Given the description of an element on the screen output the (x, y) to click on. 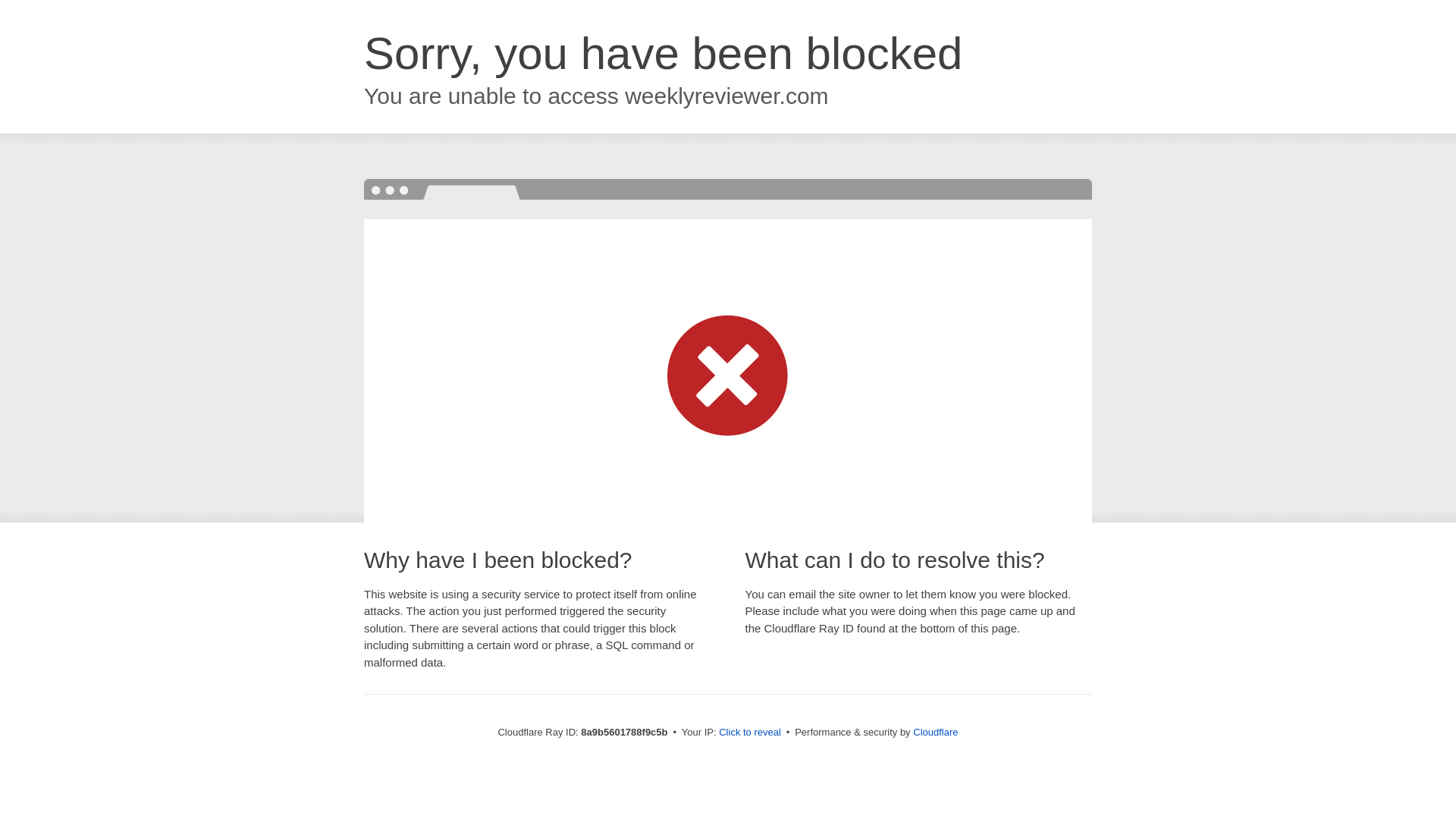
Click to reveal (749, 732)
Cloudflare (935, 731)
